Given the description of an element on the screen output the (x, y) to click on. 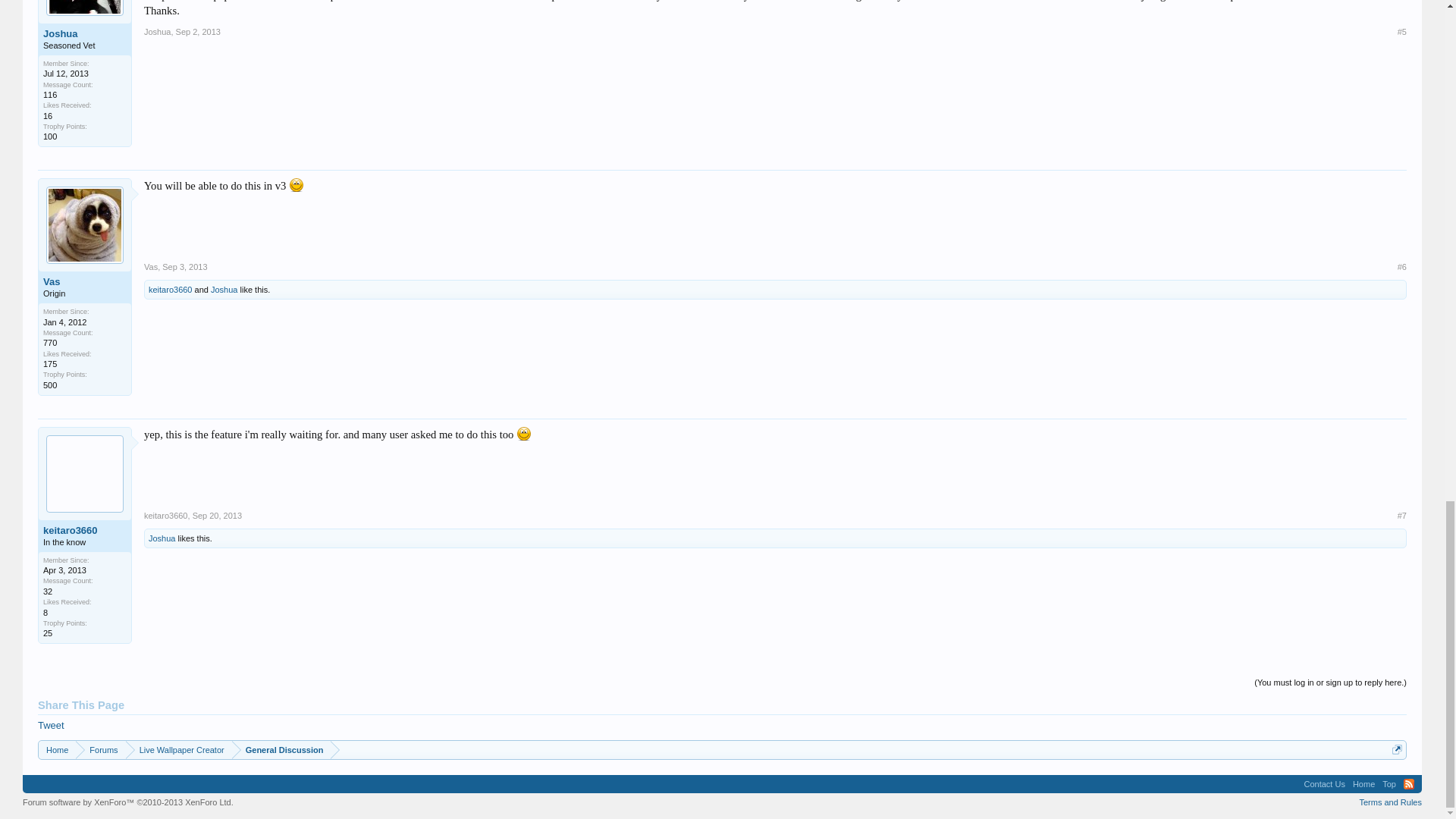
Permalink (183, 266)
Permalink (198, 31)
